Given the description of an element on the screen output the (x, y) to click on. 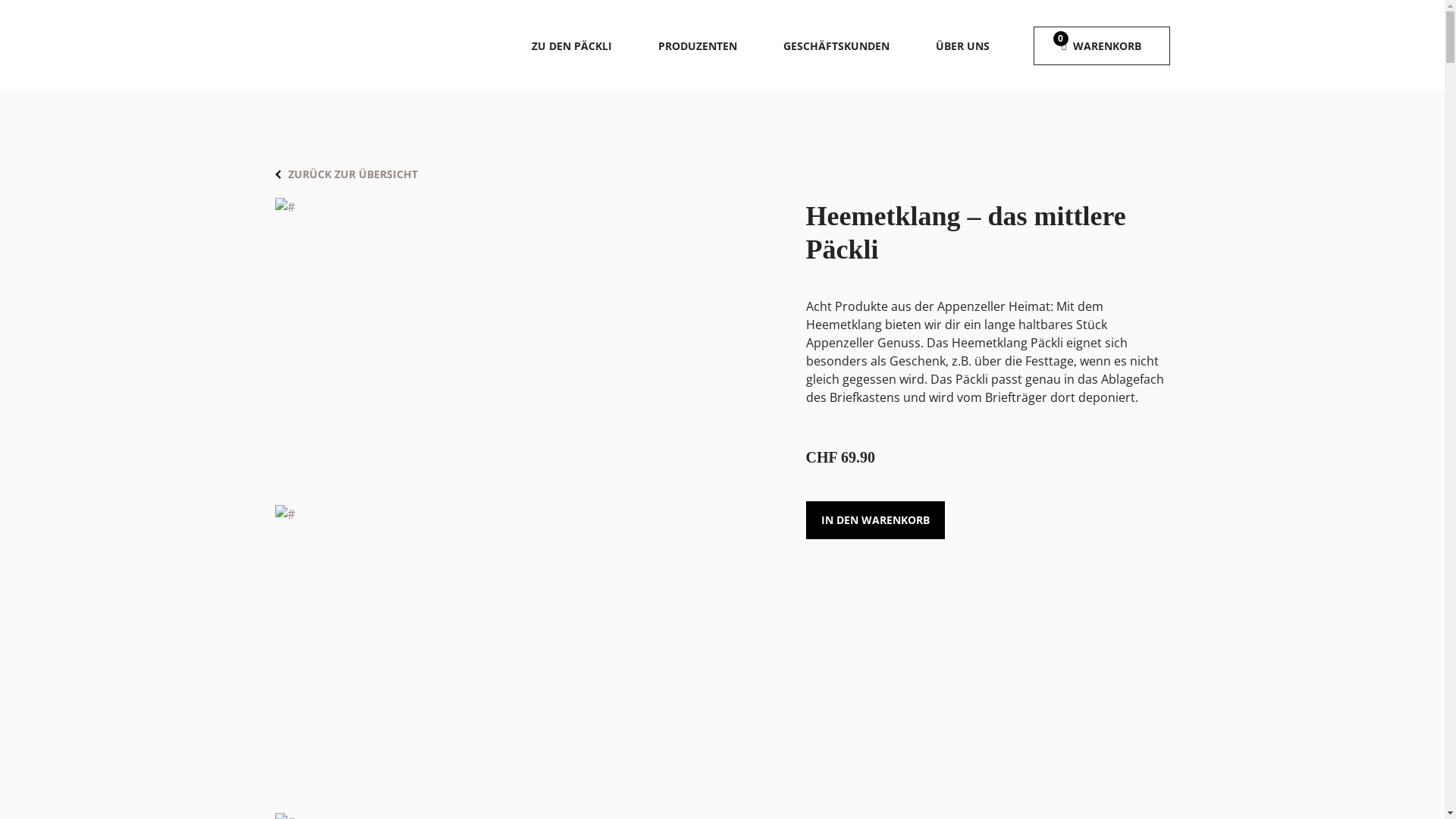
WARENKORB
0 Element type: text (1100, 45)
PRODUZENTEN Element type: text (697, 45)
IN DEN WARENKORB Element type: text (874, 520)
